Given the description of an element on the screen output the (x, y) to click on. 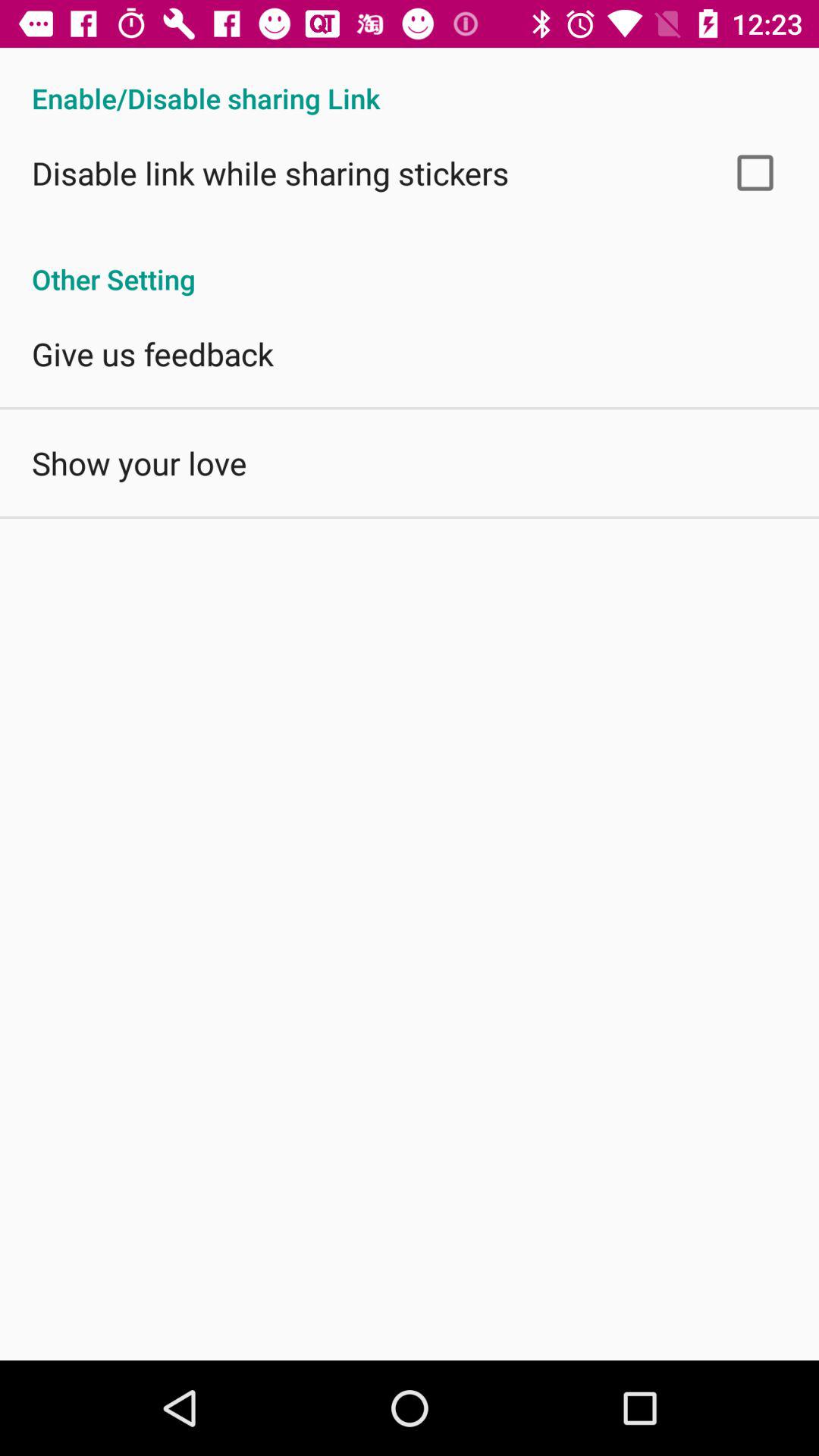
launch app above other setting (755, 172)
